Given the description of an element on the screen output the (x, y) to click on. 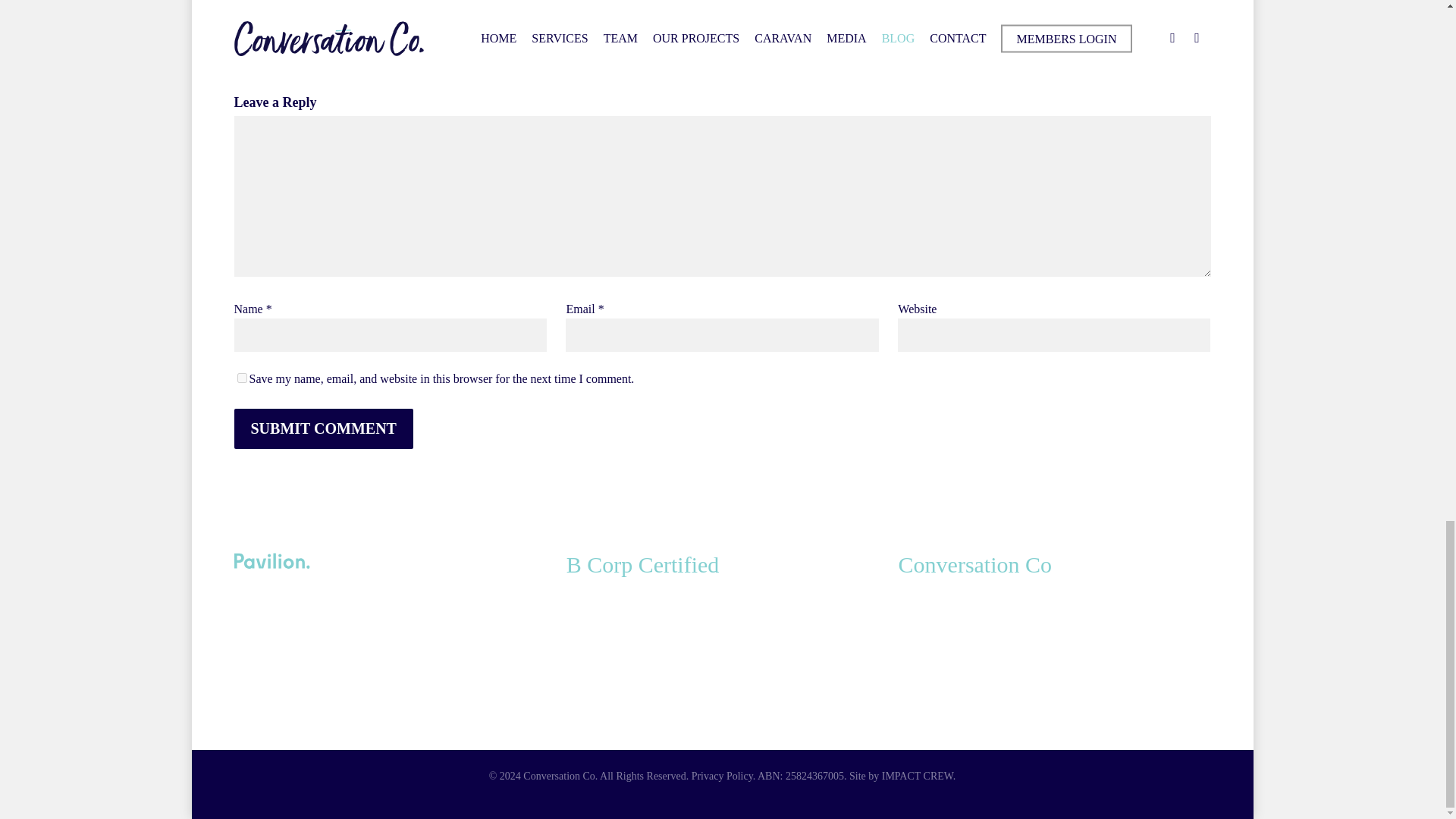
IMPACT CREW (917, 776)
Submit Comment (322, 428)
yes (240, 378)
Privacy Policy (721, 776)
Submit Comment (322, 428)
  03 8797 5362 (1044, 610)
pavilion.partners (274, 688)
